Given the description of an element on the screen output the (x, y) to click on. 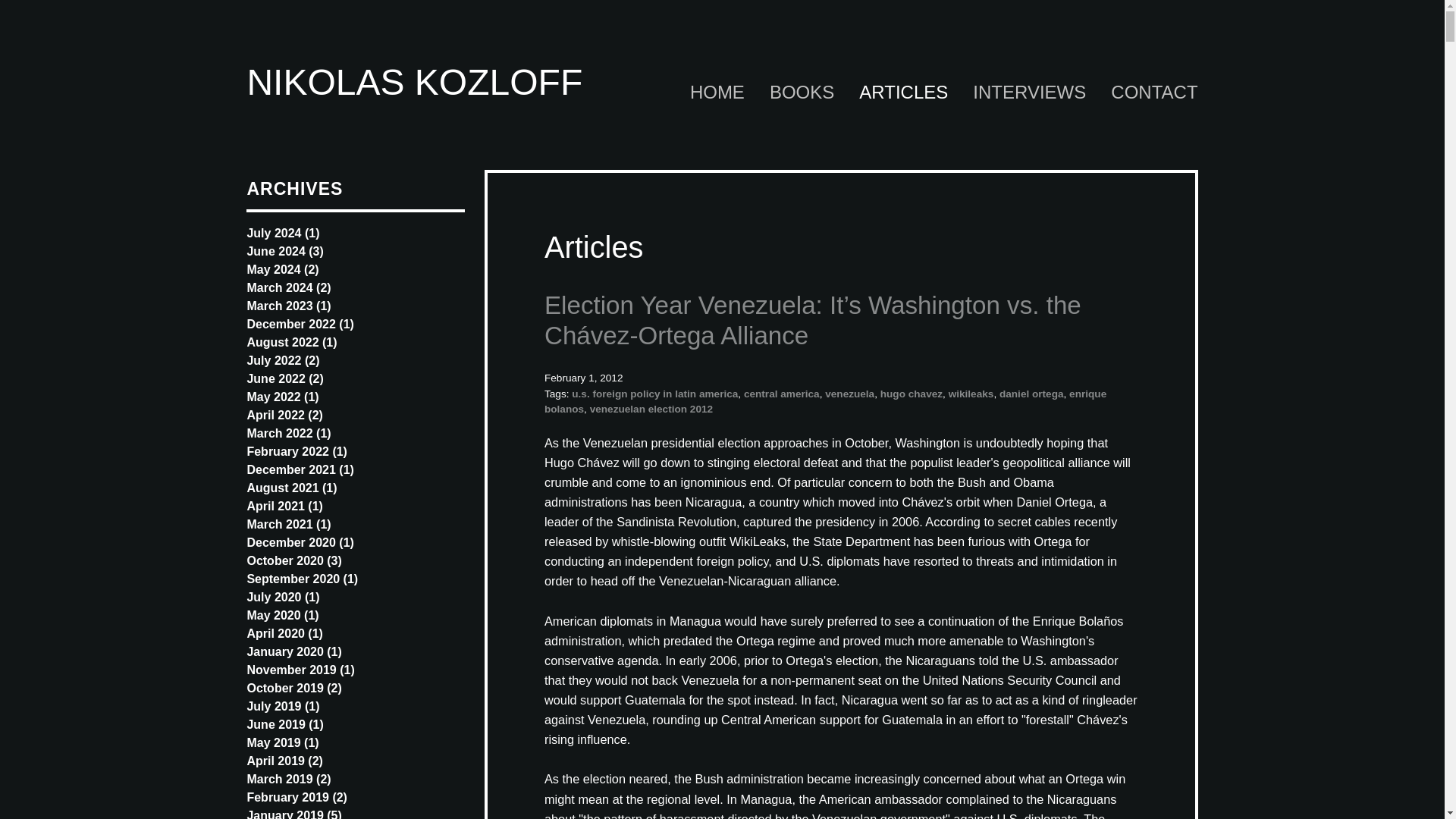
NIKOLAS KOZLOFF (414, 82)
ARTICLES (893, 92)
INTERVIEWS (1019, 92)
BOOKS (791, 92)
HOME (706, 92)
CONTACT (1144, 92)
